Given the description of an element on the screen output the (x, y) to click on. 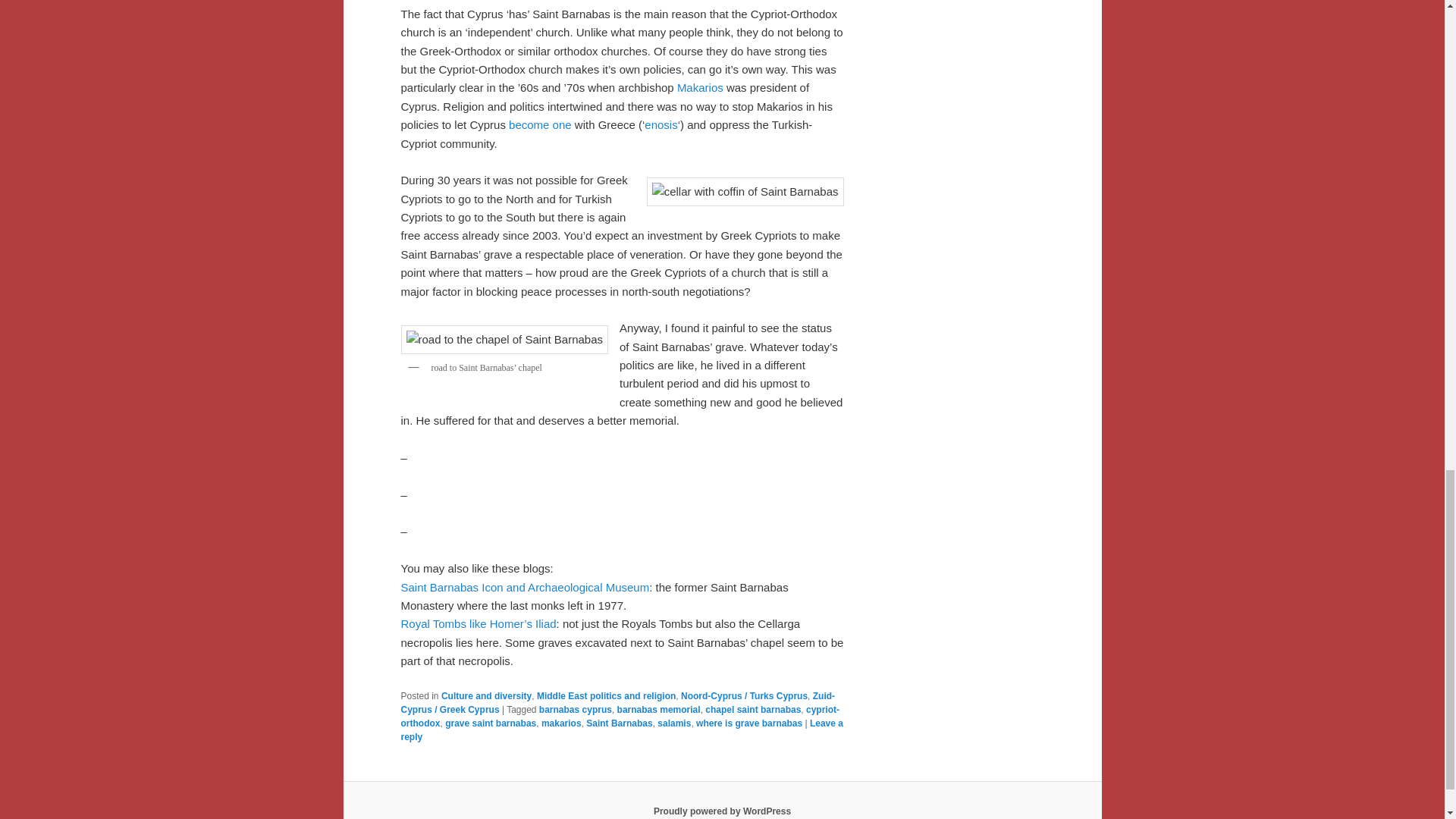
barnabas cyprus (574, 709)
enosis (661, 124)
Saint Barnabas (619, 723)
barnabas memorial (658, 709)
where is grave barnabas (748, 723)
become one (540, 124)
Middle East politics and religion (606, 696)
Saint Barnabas Icon and Archaeological Museum (524, 586)
grave saint barnabas (490, 723)
Culture and diversity (486, 696)
chapel saint barnabas (752, 709)
Leave a reply (621, 730)
makarios (560, 723)
Makarios (700, 87)
cypriot-orthodox (620, 716)
